Given the description of an element on the screen output the (x, y) to click on. 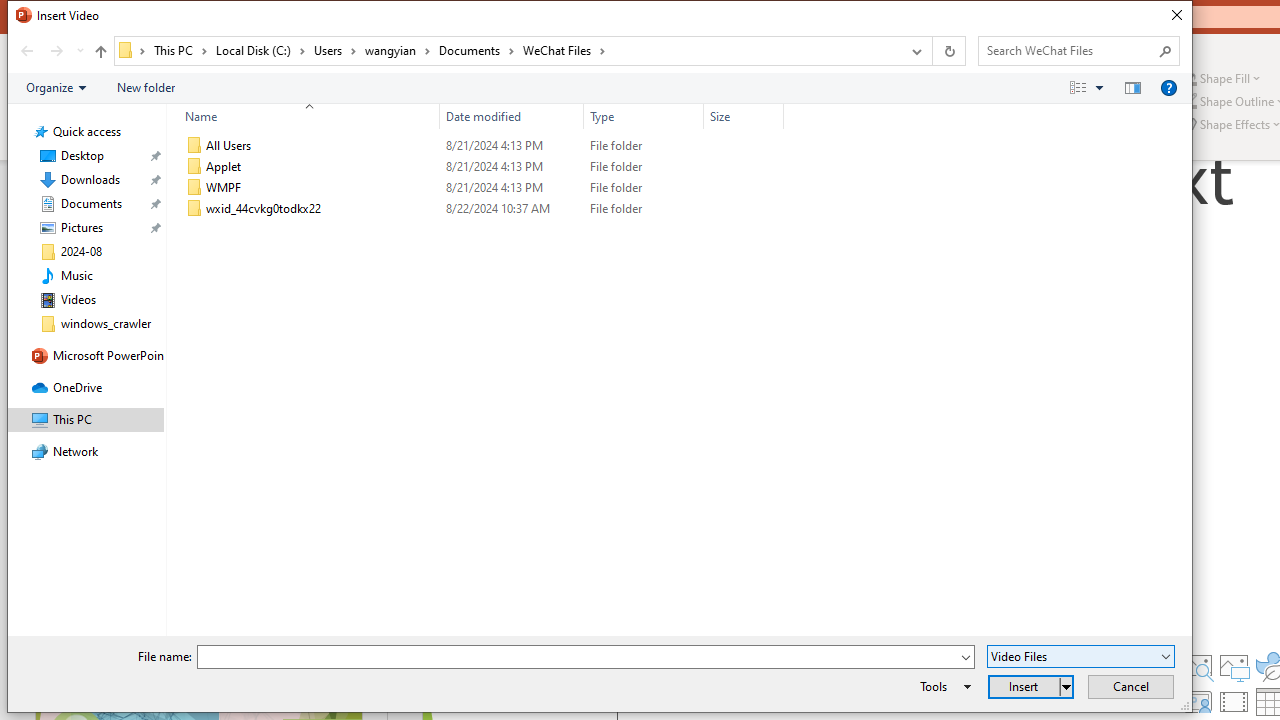
Name (321, 209)
This PC (180, 50)
Previous Locations (914, 51)
All Users (480, 145)
Address band toolbar (931, 51)
Recent locations (79, 51)
Size (743, 115)
Up band toolbar (100, 54)
File name: (586, 656)
Address: C:\Users\wangyian\Documents\WeChat Files (506, 51)
WMPF (480, 187)
